Given the description of an element on the screen output the (x, y) to click on. 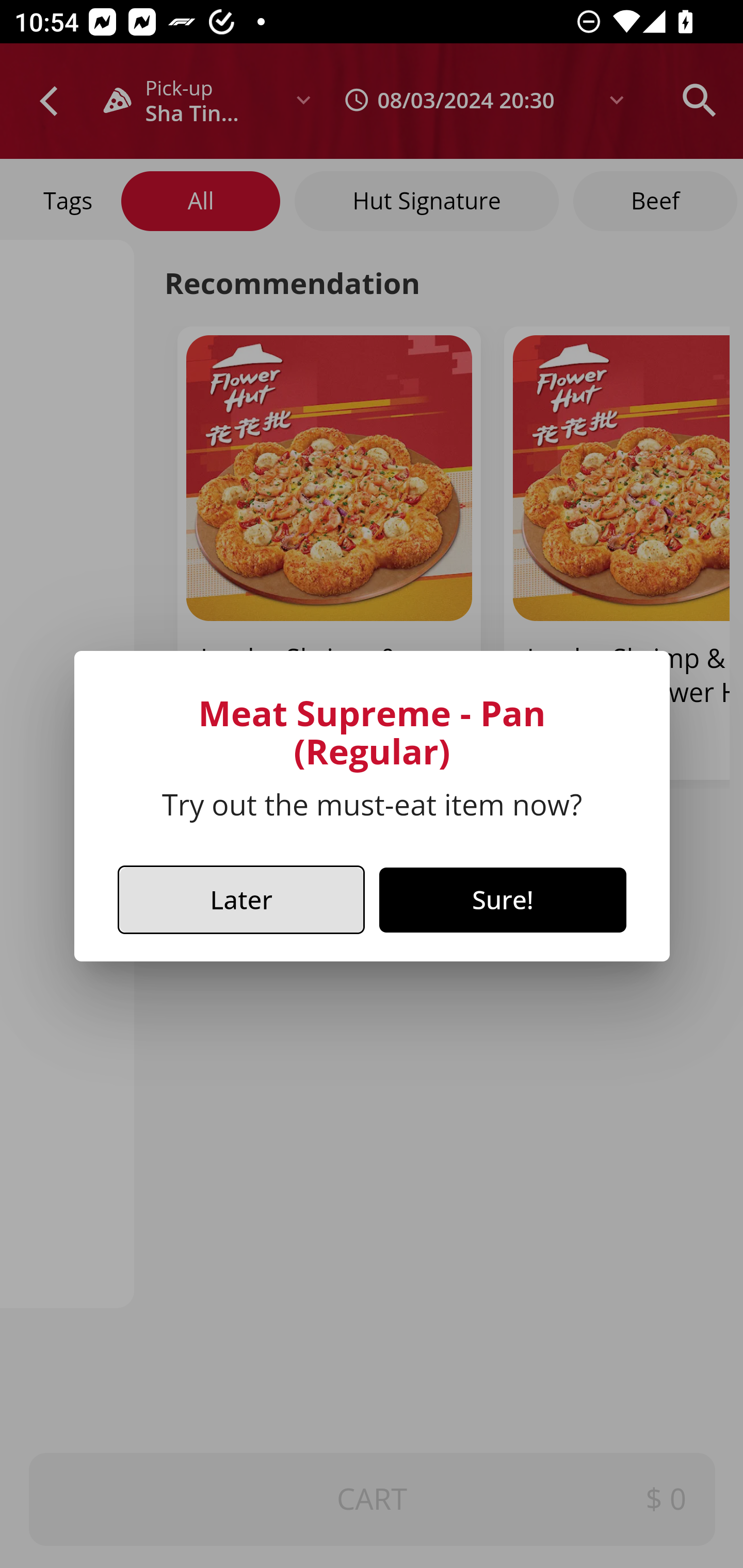
Later (241, 898)
Sure! (502, 899)
